Given the description of an element on the screen output the (x, y) to click on. 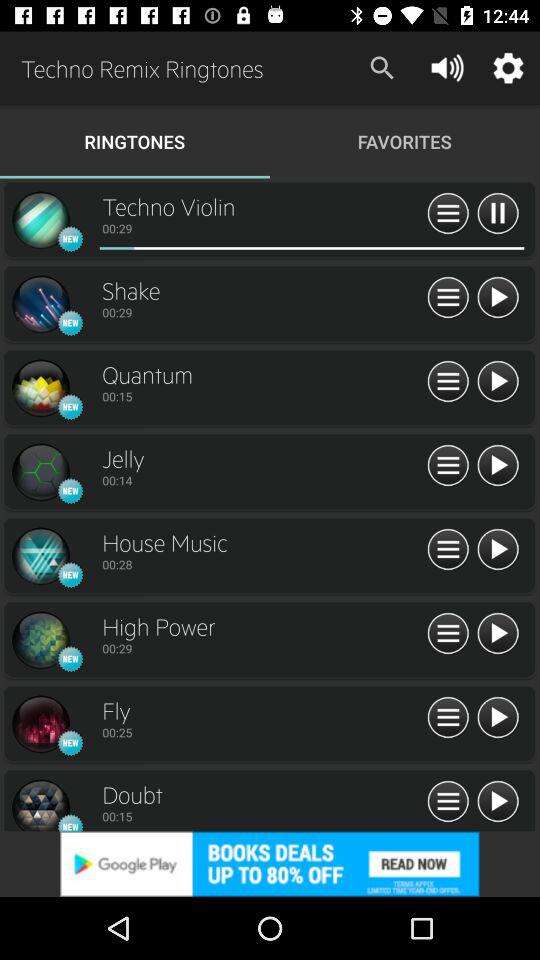
pause button (497, 213)
